Given the description of an element on the screen output the (x, y) to click on. 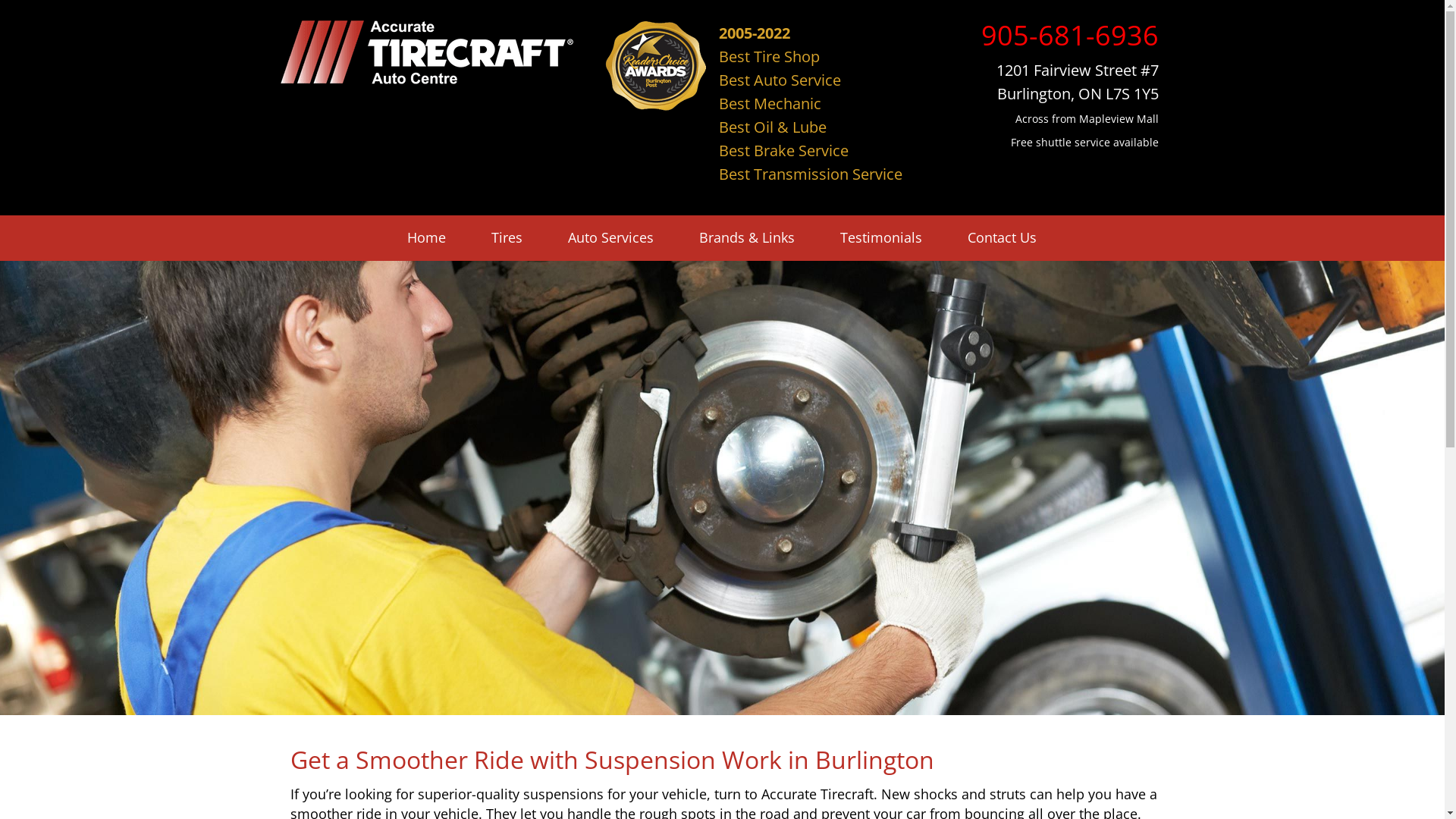
Accurate Tirecraft auto centre Element type: hover (426, 51)
Home Element type: text (426, 237)
Contact Us Element type: text (1001, 237)
Testimonials Element type: text (880, 237)
905-681-6936 Element type: text (1069, 34)
Brands & Links Element type: text (746, 237)
Auto Services Element type: text (610, 237)
Tires Element type: text (506, 237)
